Given the description of an element on the screen output the (x, y) to click on. 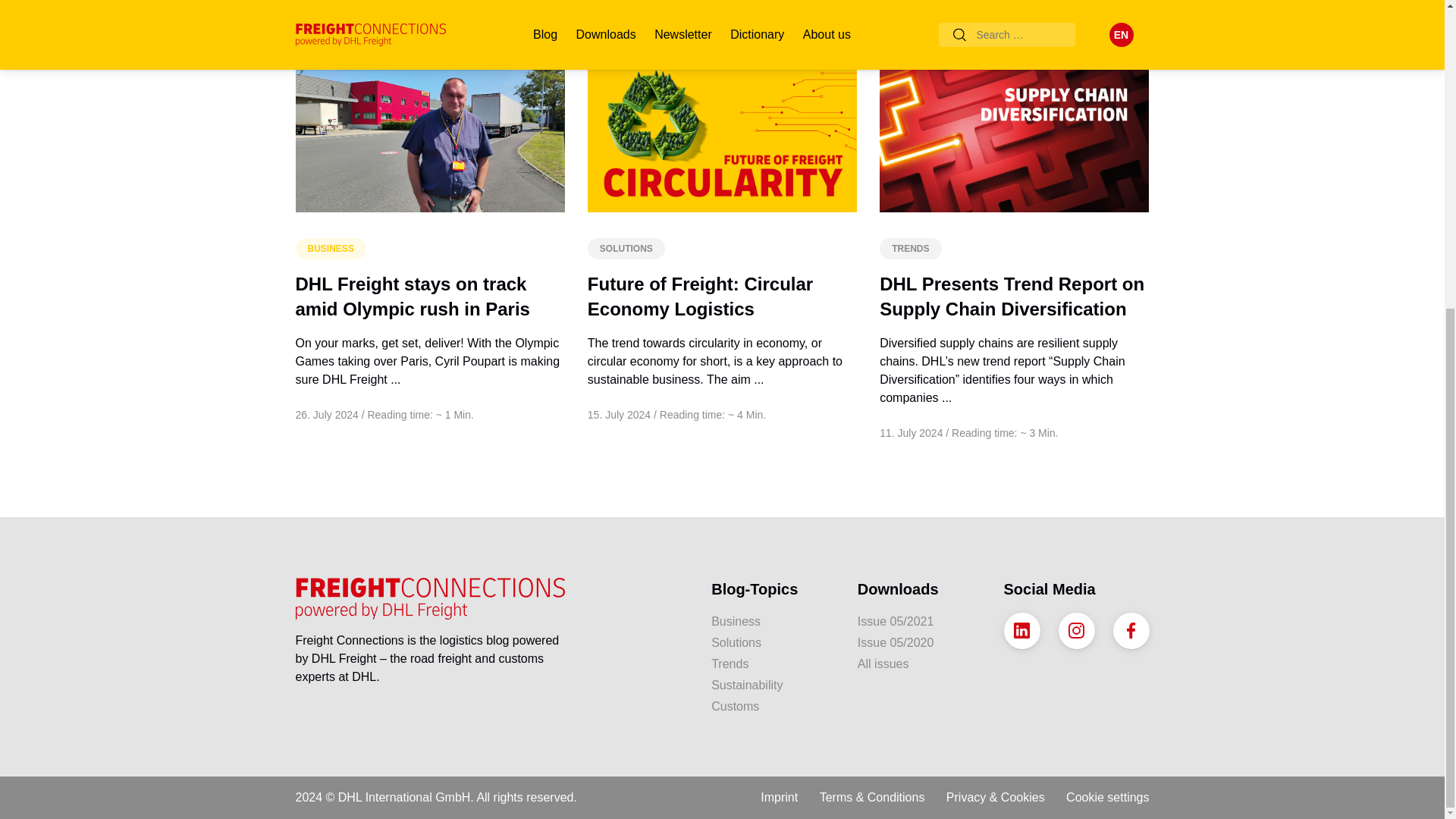
DHL Presents Trend Report on Supply Chain Diversification (1011, 296)
DHL Freight stays on track amid Olympic rush in Paris (412, 296)
Trends (772, 664)
Business (772, 621)
Customs (772, 706)
Sustainability (772, 685)
All articles (1104, 29)
All issues (919, 664)
Solutions (772, 642)
Future of Freight: Circular Economy Logistics (700, 296)
